Given the description of an element on the screen output the (x, y) to click on. 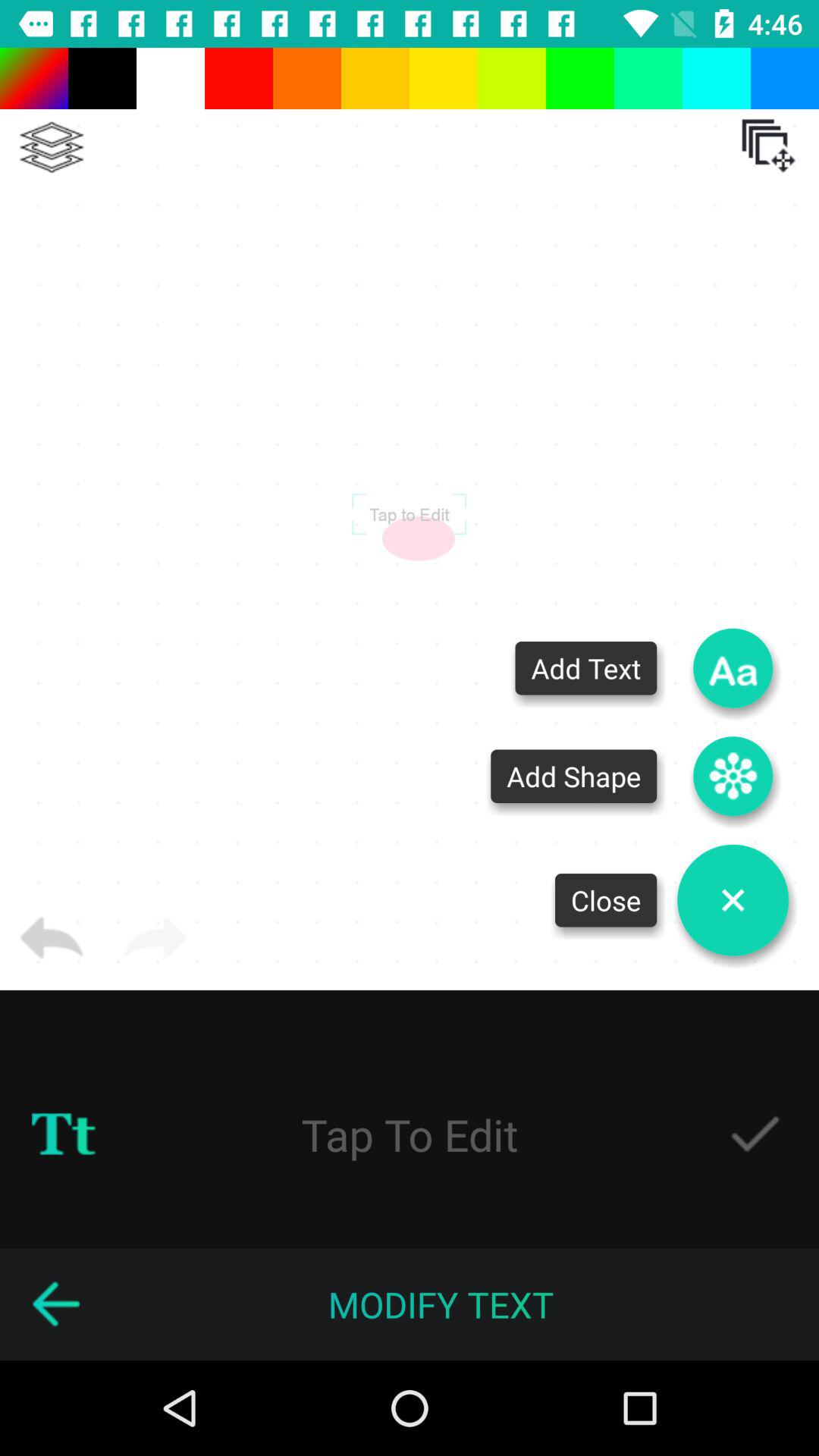
redo (155, 938)
